Given the description of an element on the screen output the (x, y) to click on. 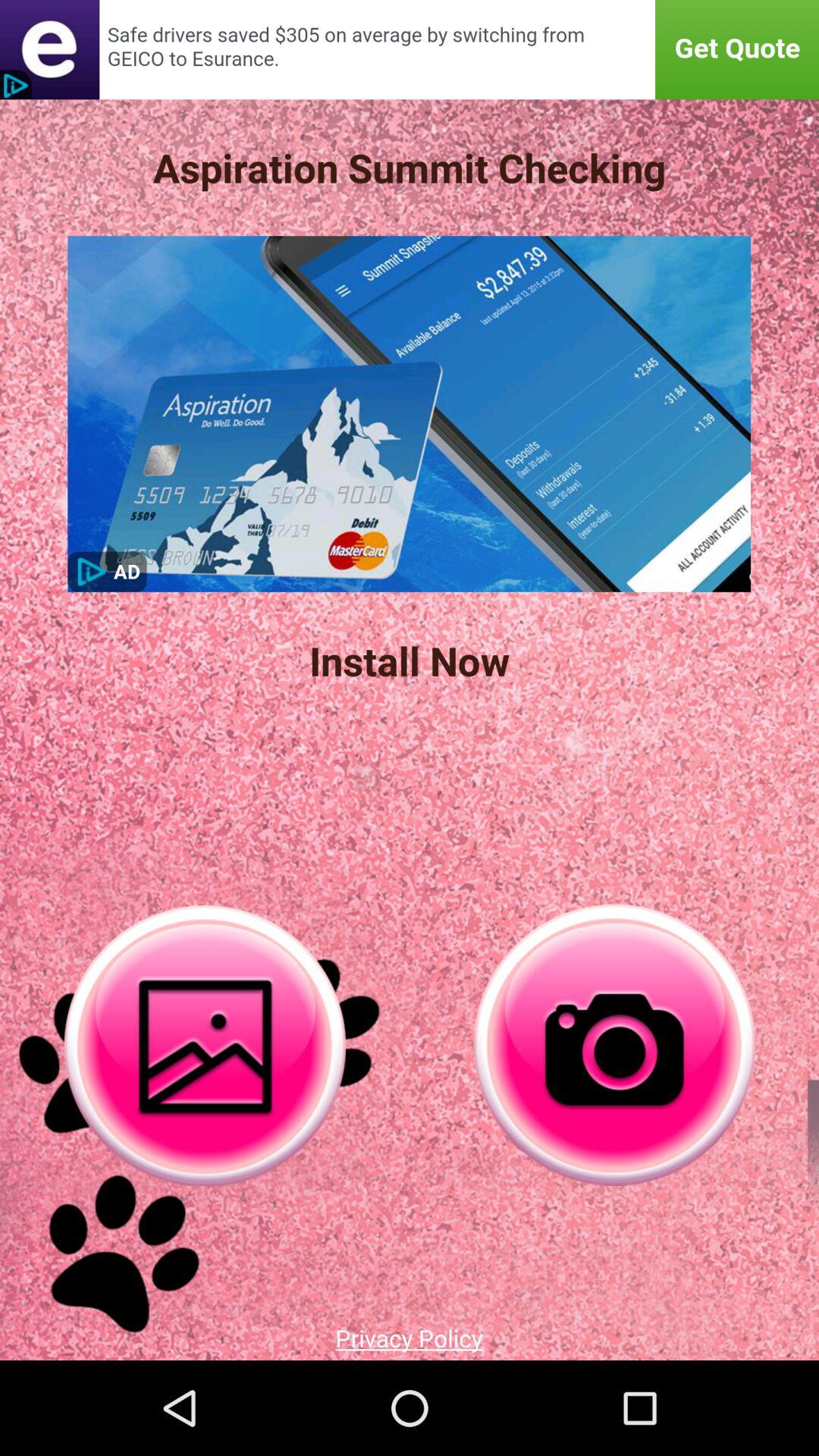
catch the camera (614, 1044)
